Given the description of an element on the screen output the (x, y) to click on. 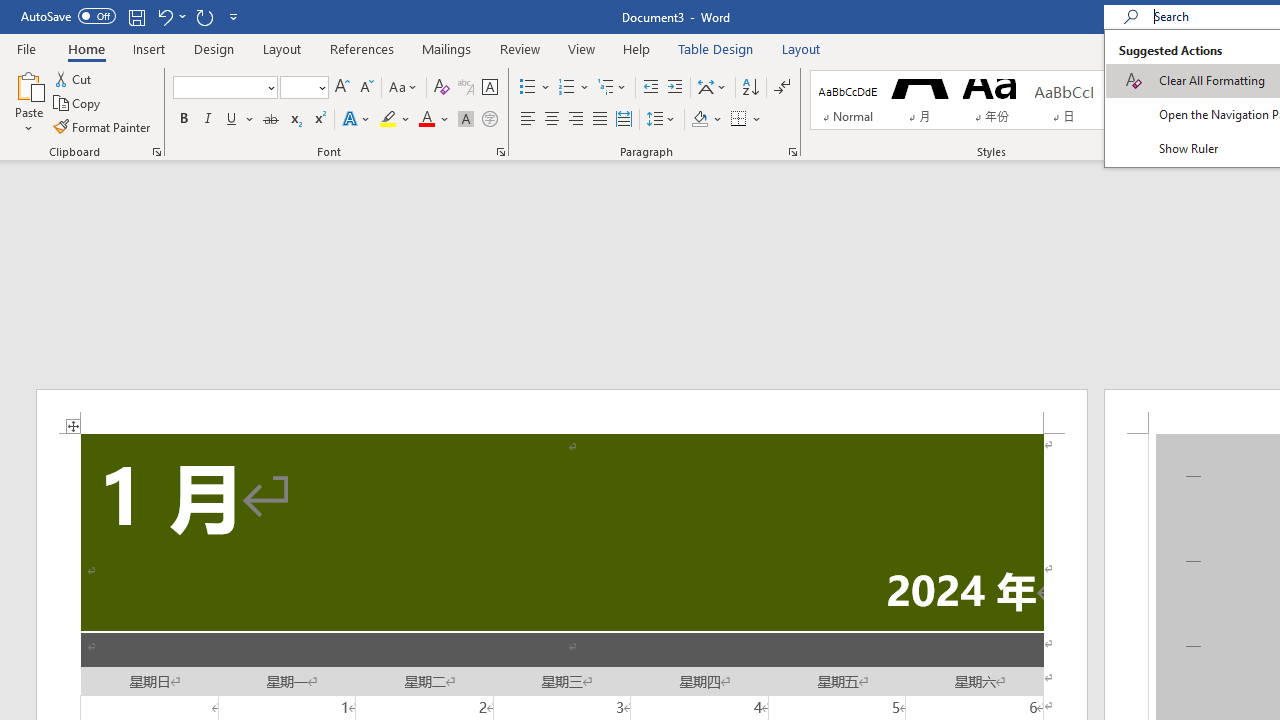
File Tab (26, 48)
Paste (28, 84)
